Given the description of an element on the screen output the (x, y) to click on. 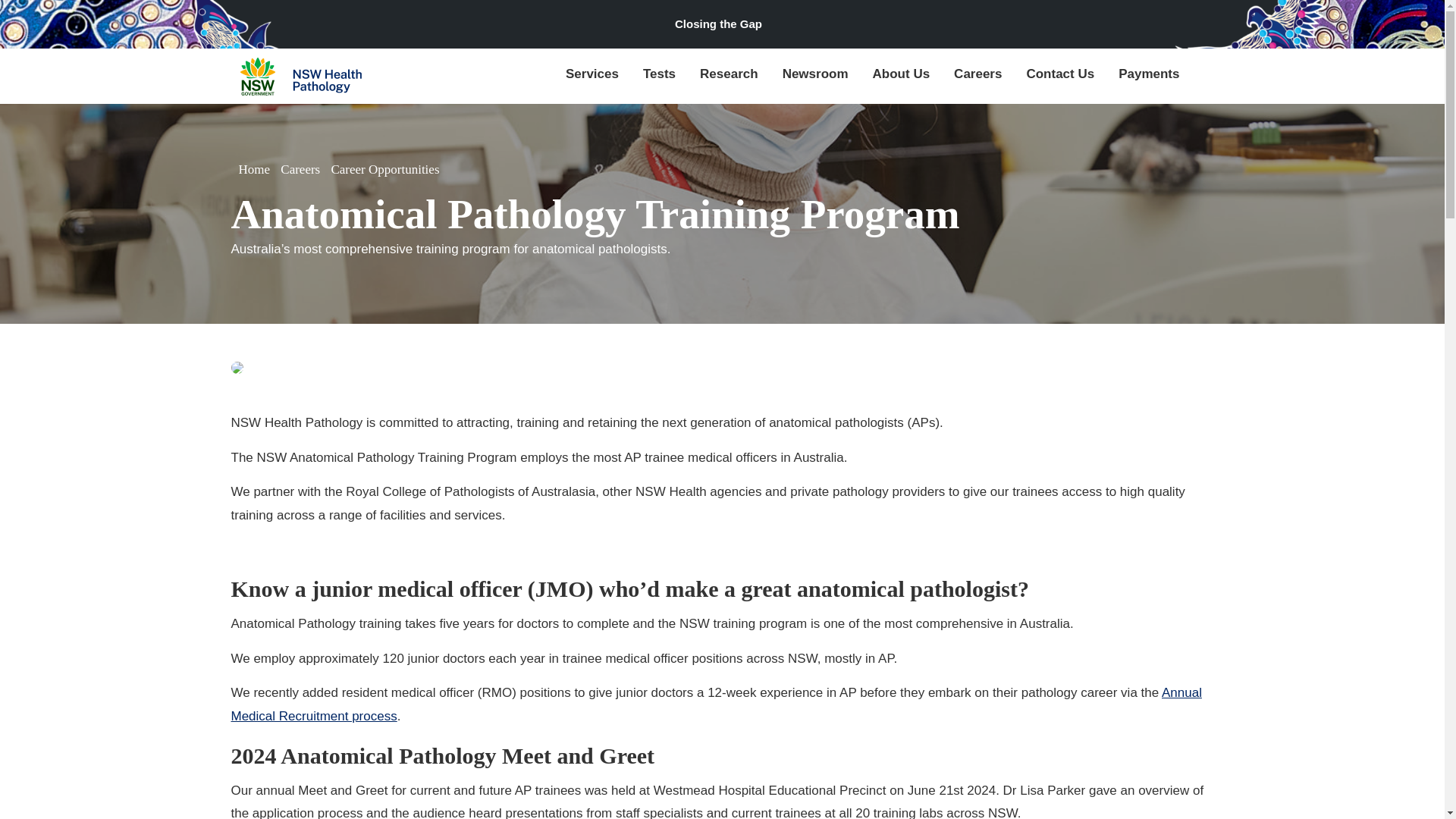
Research (732, 76)
Careers (981, 76)
Contact Us (1064, 76)
Closing the Gap (721, 24)
About Us (904, 76)
Newsroom (818, 76)
Tests (663, 76)
Payments (1148, 76)
Services (595, 76)
